Given the description of an element on the screen output the (x, y) to click on. 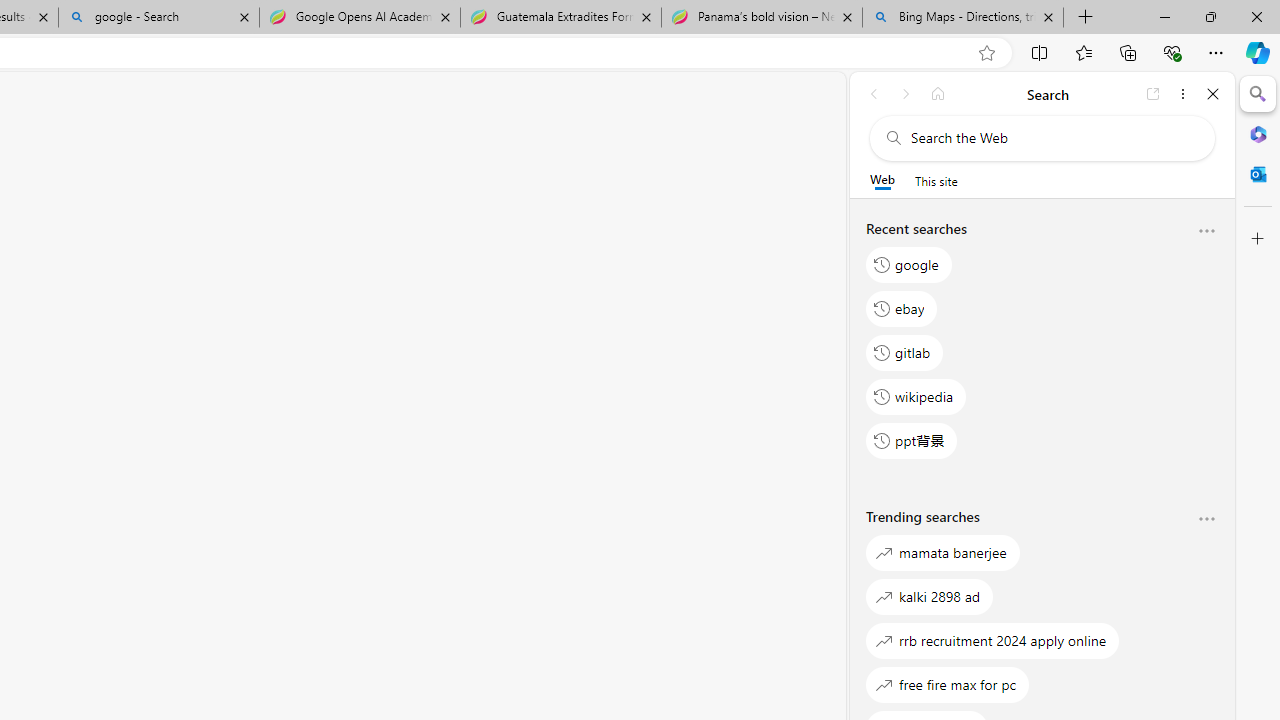
Home (938, 93)
Outlook (1258, 174)
Customize (1258, 239)
Web scope (882, 180)
ebay (902, 308)
Search the web (1051, 137)
gitlab (905, 352)
Forward (906, 93)
This site scope (936, 180)
